Given the description of an element on the screen output the (x, y) to click on. 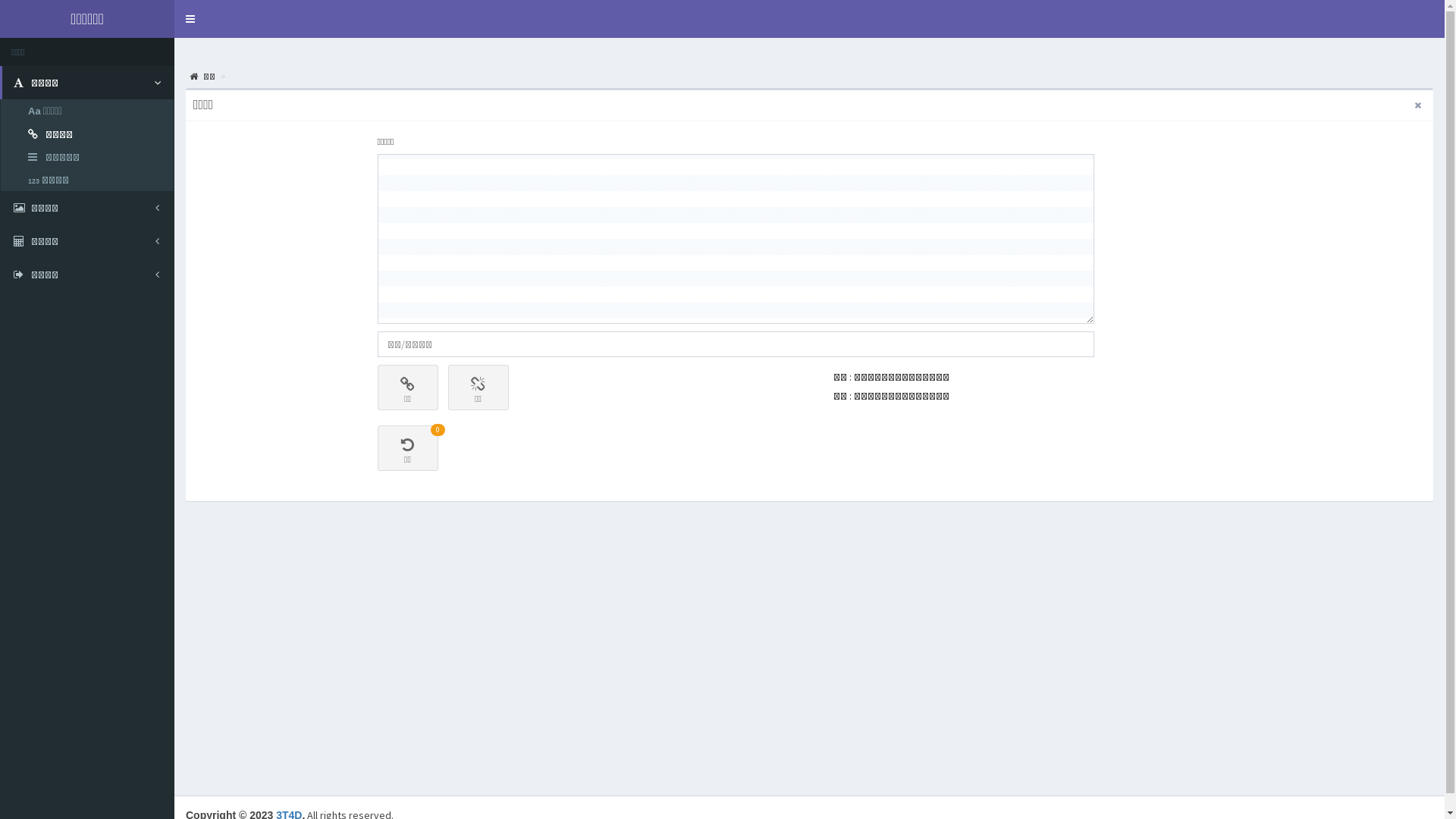
Toggle navigation Element type: text (190, 18)
